Given the description of an element on the screen output the (x, y) to click on. 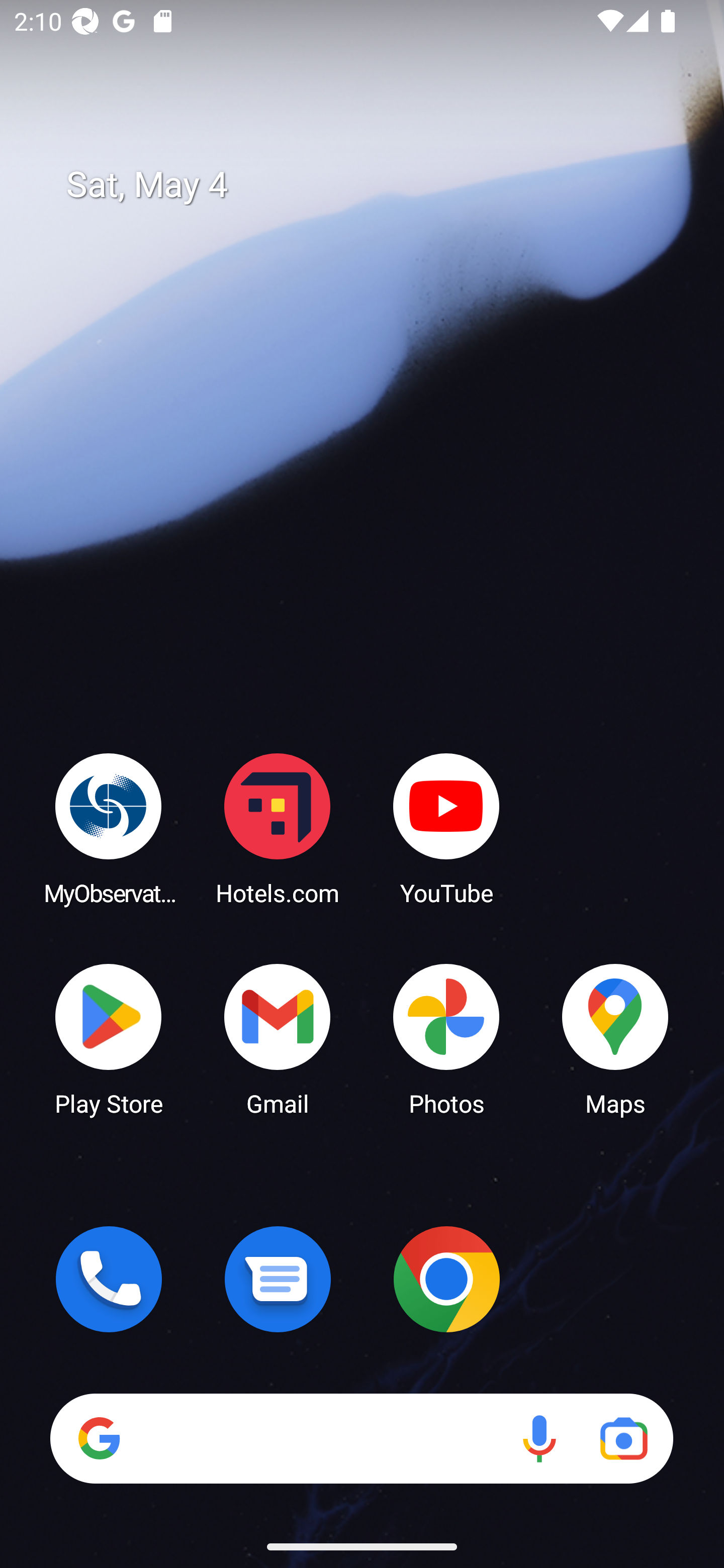
Sat, May 4 (375, 184)
MyObservatory (108, 828)
Hotels.com (277, 828)
YouTube (445, 828)
Play Store (108, 1038)
Gmail (277, 1038)
Photos (445, 1038)
Maps (615, 1038)
Phone (108, 1279)
Messages (277, 1279)
Chrome (446, 1279)
Search Voice search Google Lens (361, 1438)
Voice search (539, 1438)
Google Lens (623, 1438)
